Given the description of an element on the screen output the (x, y) to click on. 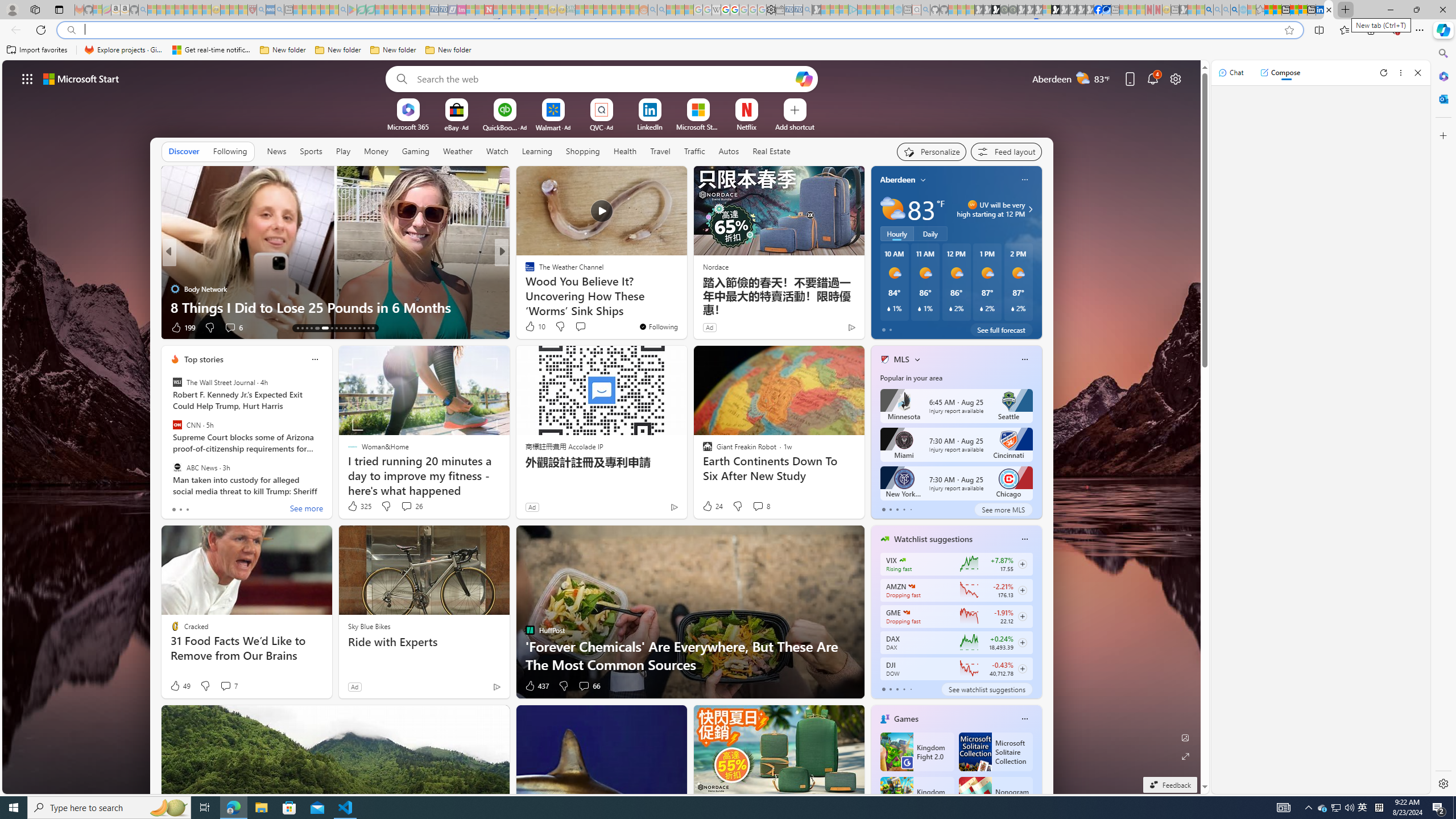
View comments 543 Comment (583, 327)
Autos (729, 151)
207 Like (532, 327)
More interests (917, 359)
Sports (310, 151)
AutomationID: tab-13 (297, 328)
View comments 7 Comment (228, 685)
